Given the description of an element on the screen output the (x, y) to click on. 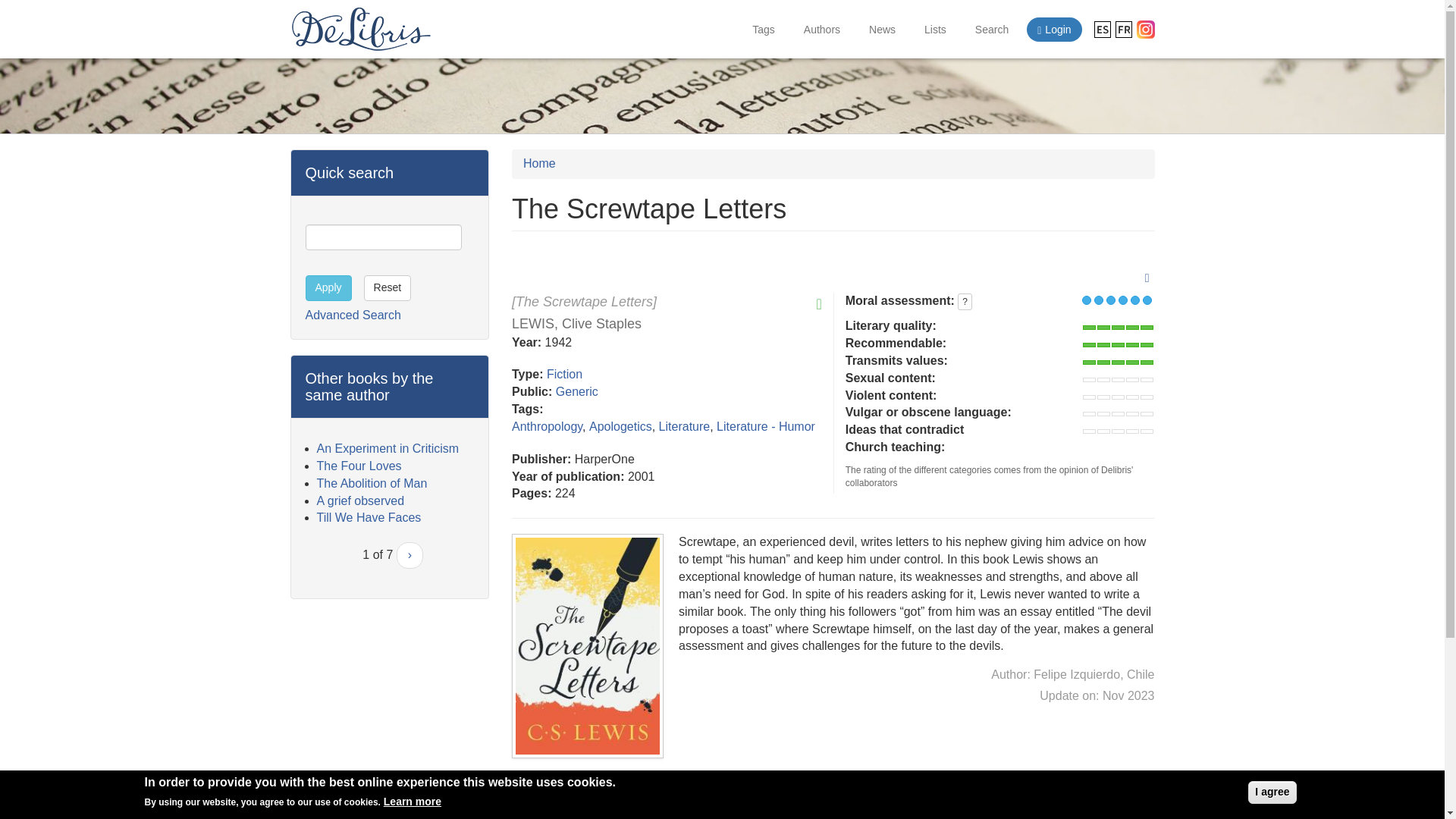
Login (1053, 29)
Twitter (550, 783)
An Experiment in Criticism (388, 448)
Apologetics (620, 426)
Home (539, 163)
Facebook (523, 783)
Lists (935, 29)
Till We Have Faces (369, 517)
WhatsApp (579, 783)
LEWIS, Clive Staples (577, 323)
Authors (821, 29)
Apply (327, 288)
Literature (684, 426)
Search (991, 29)
